Given the description of an element on the screen output the (x, y) to click on. 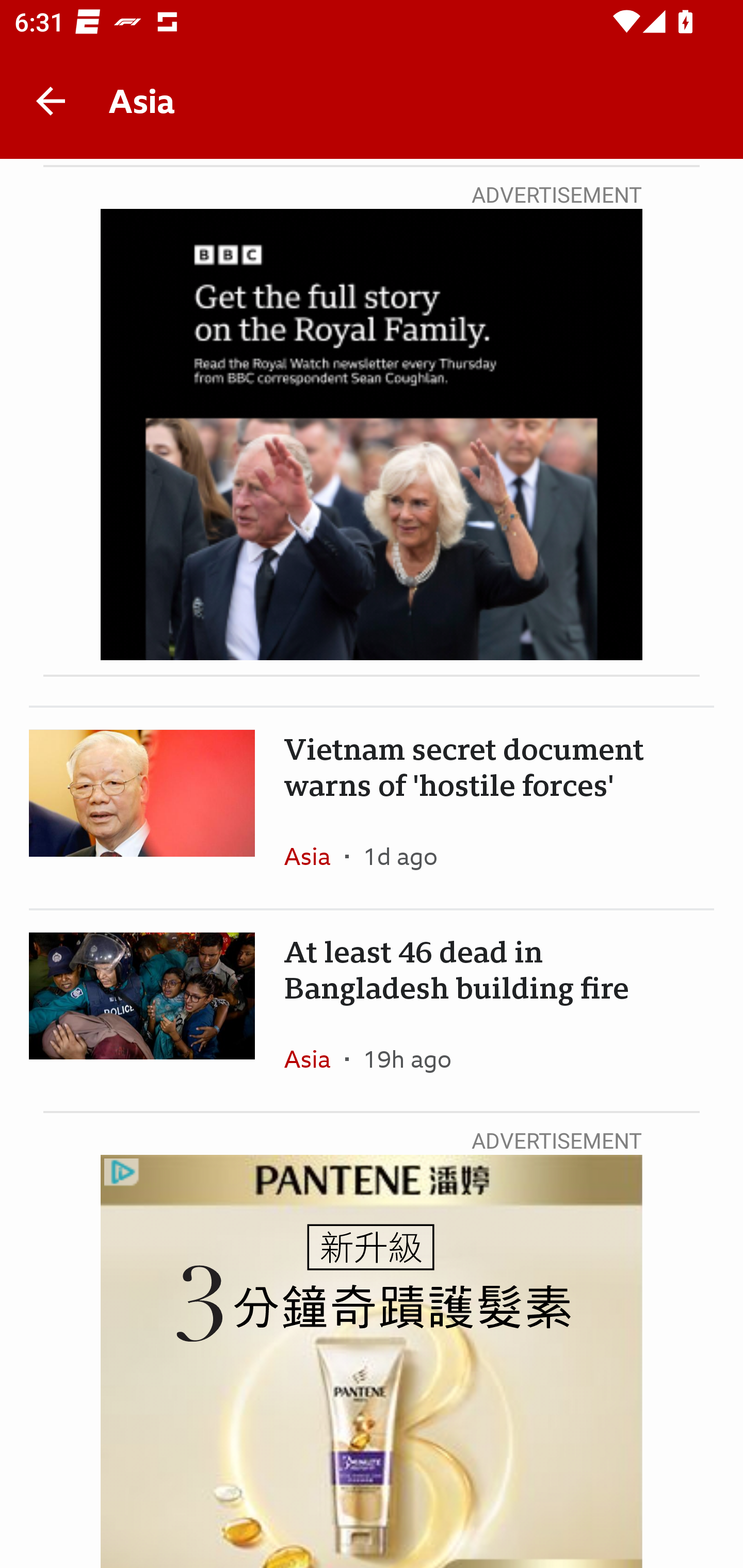
Back (50, 101)
Asia In the section Asia (314, 855)
Asia In the section Asia (314, 1058)
index javascript:window.open(window (371, 1361)
